Given the description of an element on the screen output the (x, y) to click on. 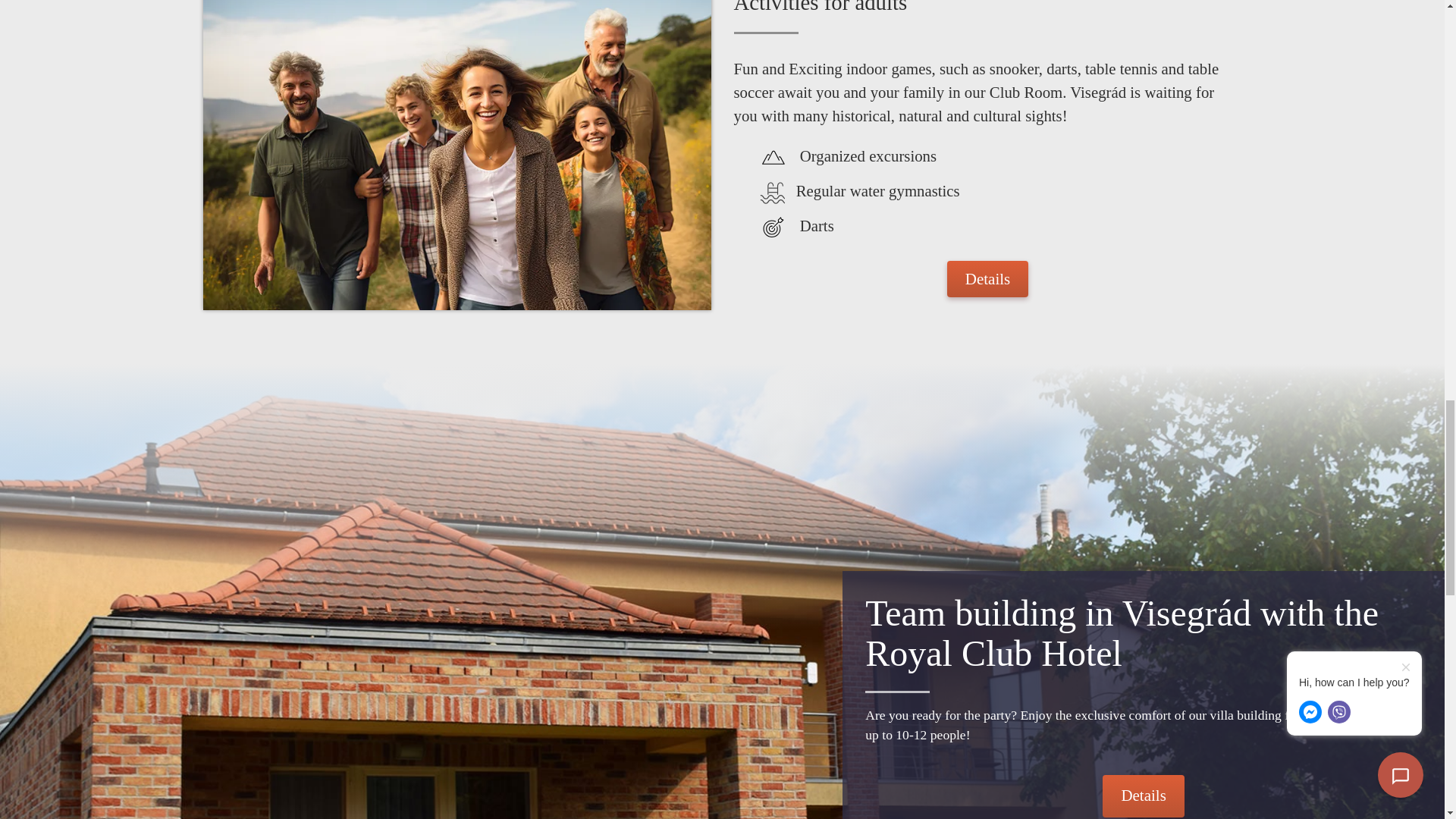
Details (987, 279)
Details (1142, 795)
